Given the description of an element on the screen output the (x, y) to click on. 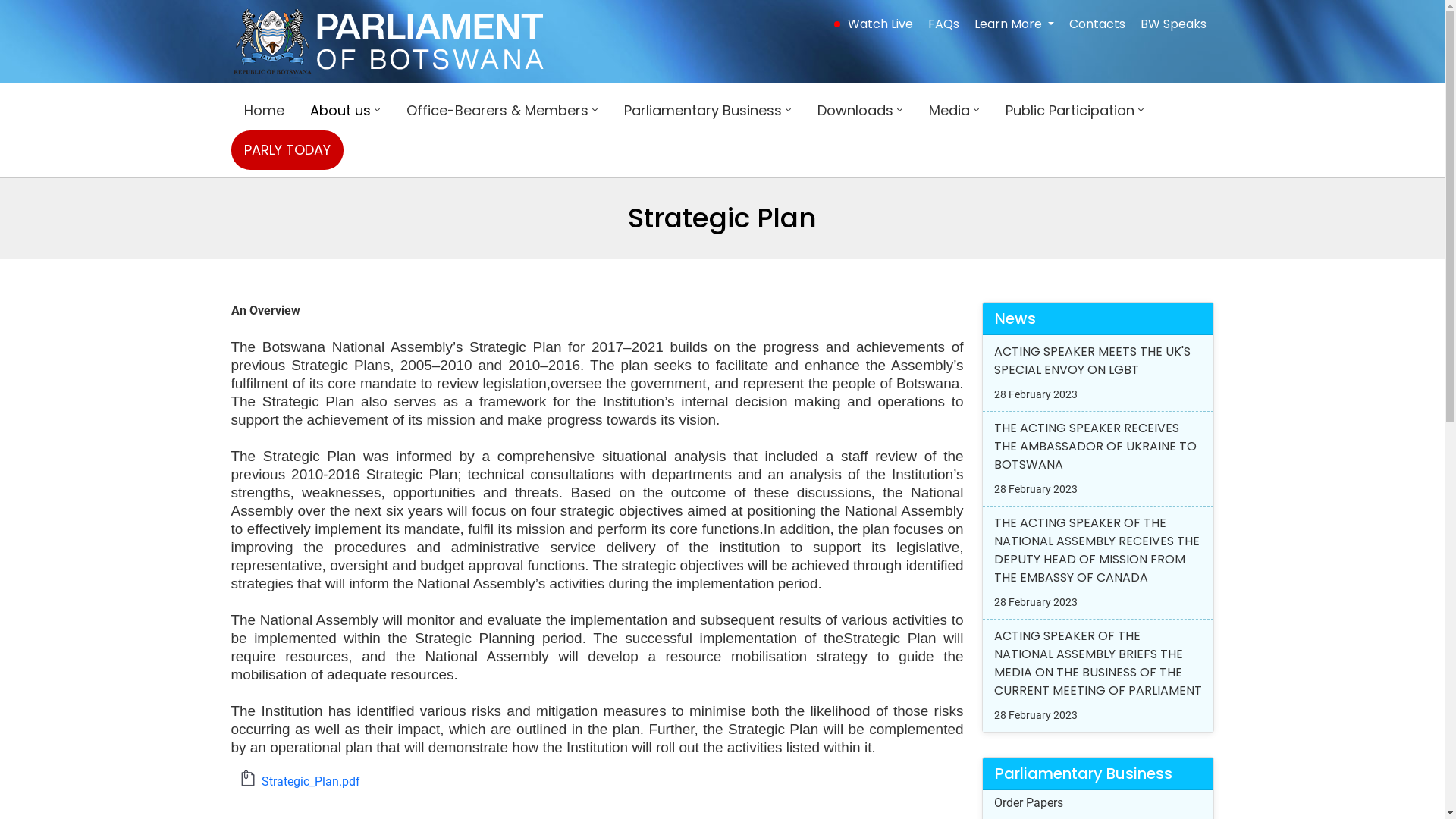
ACTING SPEAKER MEETS THE UK'S SPECIAL ENVOY ON LGBT Element type: text (1091, 360)
Downloads Element type: text (859, 110)
Watch Live Element type: text (880, 23)
FAQs Element type: text (943, 23)
Strategic_Plan.pdf Element type: text (310, 781)
About us Element type: text (345, 110)
Parliamentary Business Element type: text (707, 110)
Home Element type: text (263, 110)
Order Papers Element type: text (1027, 802)
Learn More Element type: text (1013, 23)
Contacts Element type: text (1096, 23)
Public Participation Element type: text (1073, 110)
Media Element type: text (954, 110)
BW Speaks Element type: text (1173, 23)
Office-Bearers & Members Element type: text (501, 110)
PARLY TODAY Element type: text (286, 149)
